Given the description of an element on the screen output the (x, y) to click on. 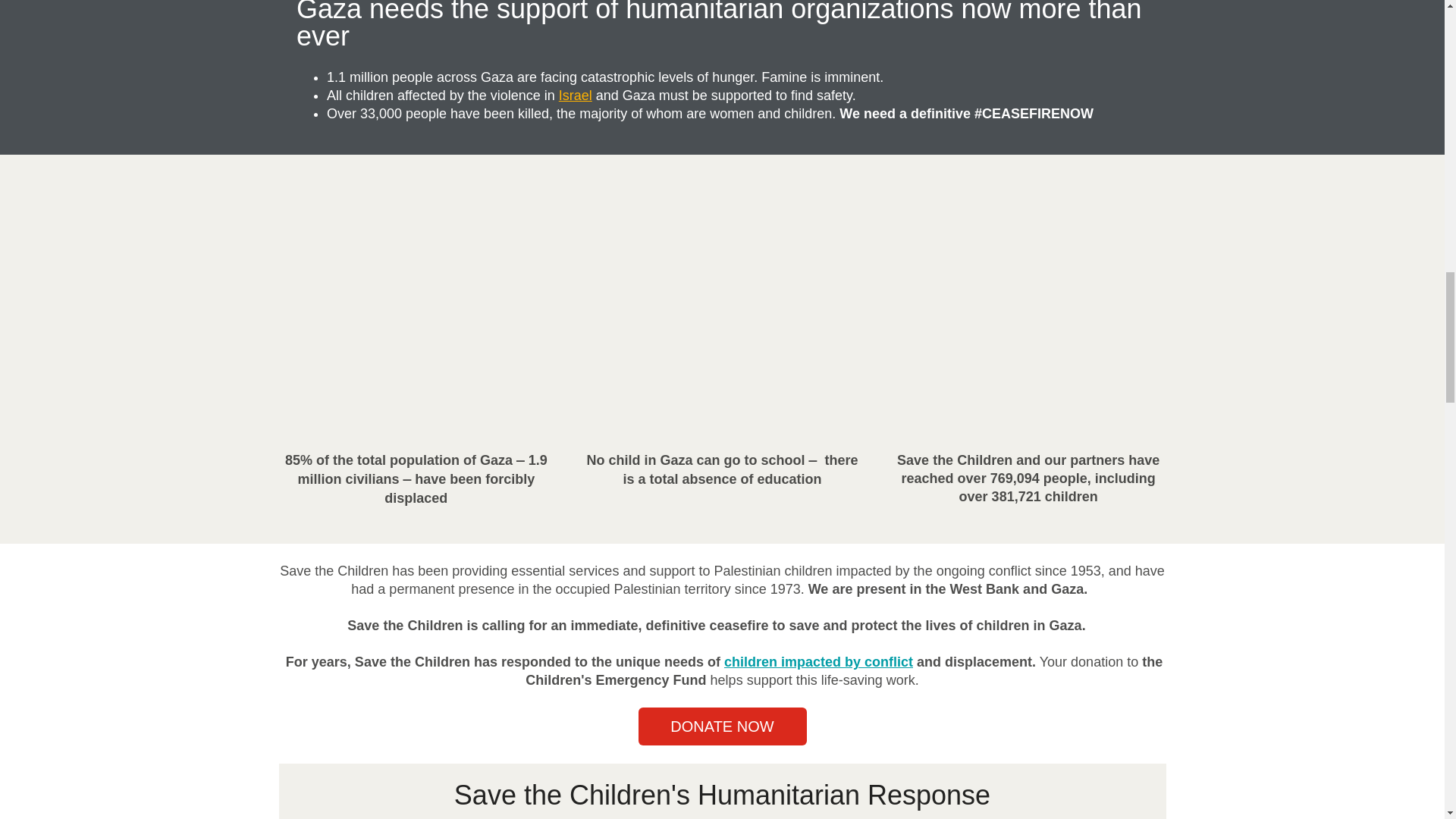
No child in Gaza can attend school. (722, 309)
DONATE NOW (722, 726)
Israel (575, 95)
769,094 people in Gaza supported by Save the Children (1028, 309)
5 Ways That Conflict Impacts Children's Mental Health (817, 661)
